Given the description of an element on the screen output the (x, y) to click on. 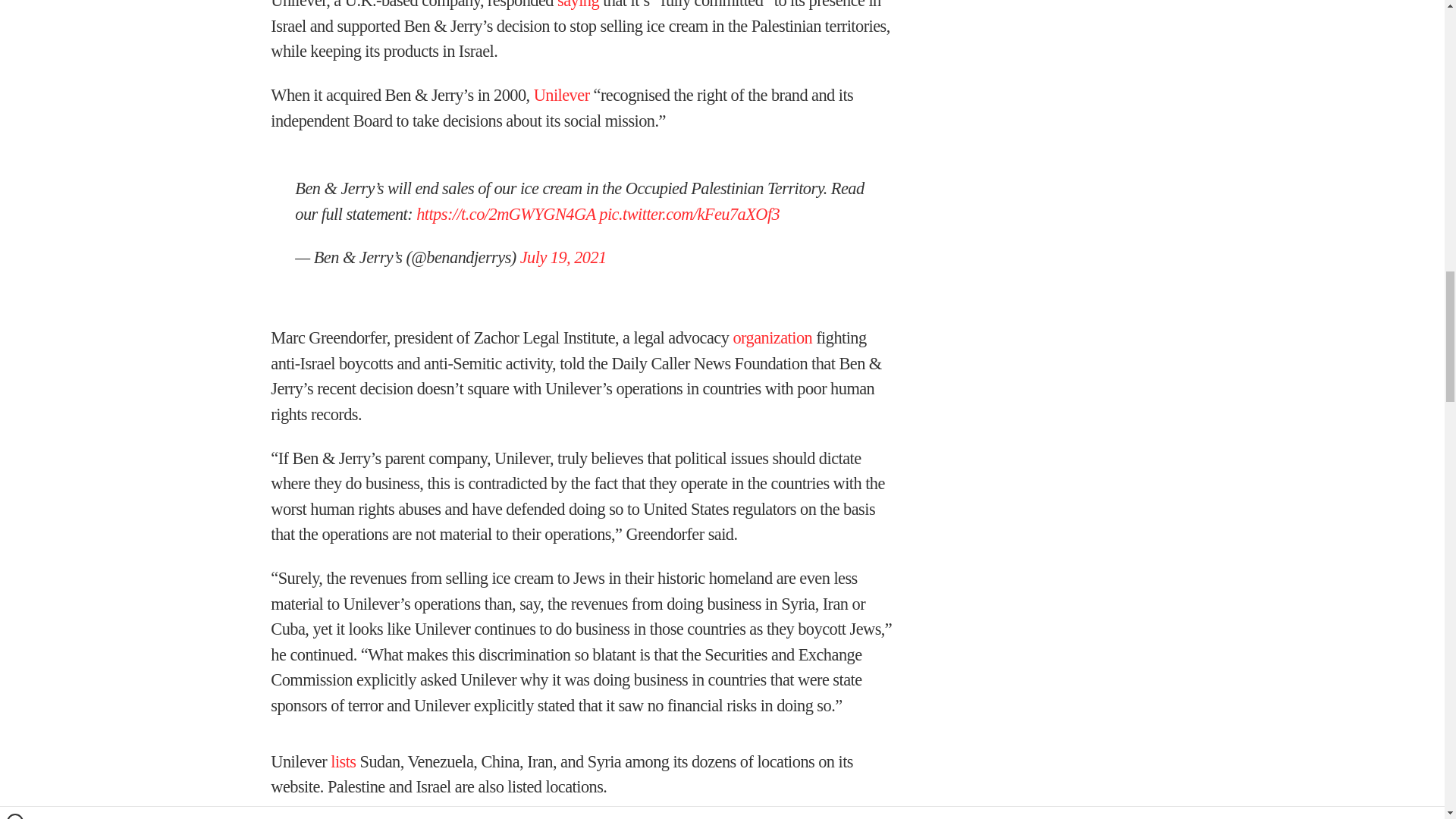
saying (577, 4)
